Given the description of an element on the screen output the (x, y) to click on. 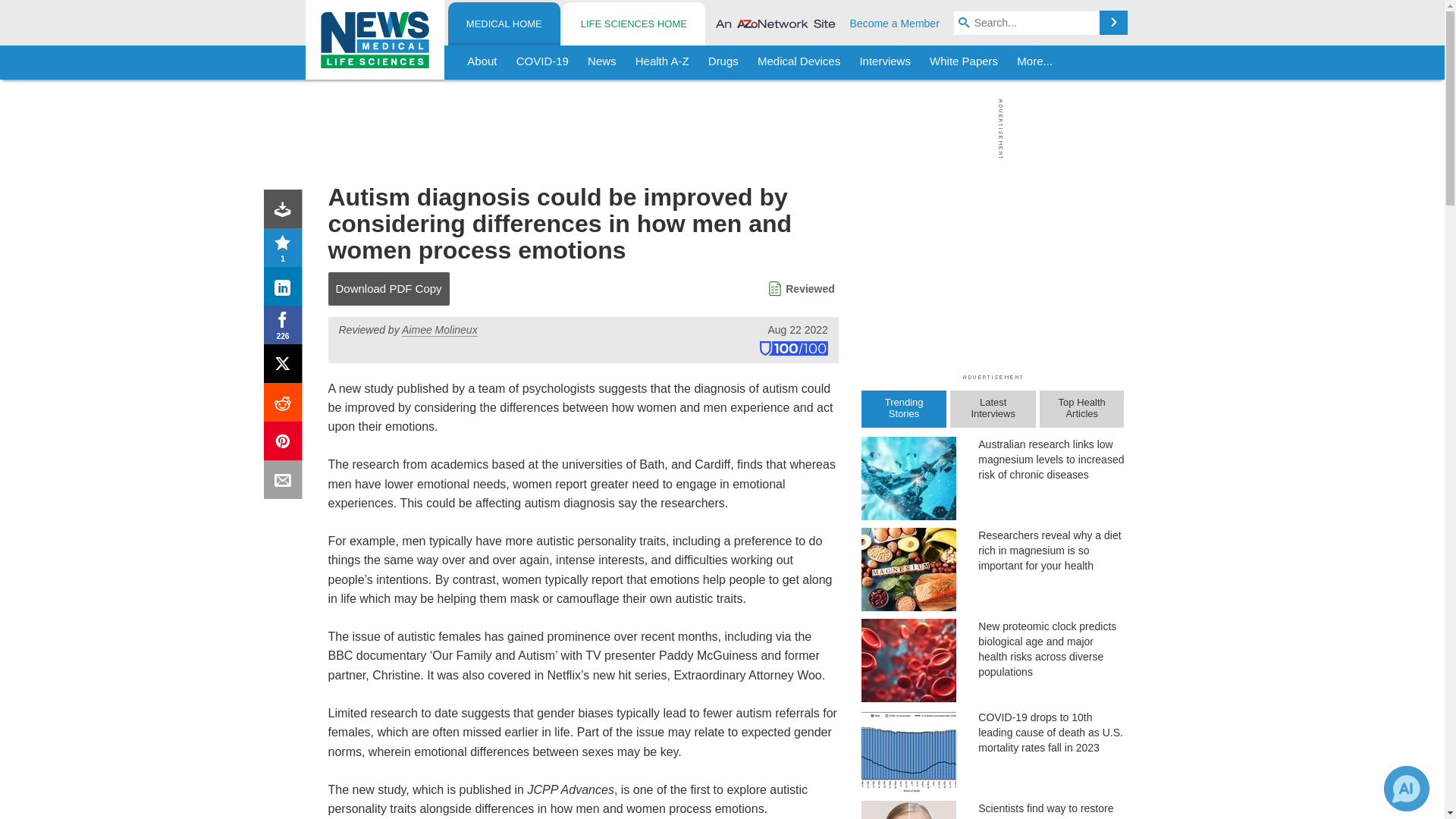
3rd party ad content (718, 128)
Facebook (285, 328)
Medical Devices (798, 62)
Interviews (884, 62)
LIFE SCIENCES HOME (633, 23)
MEDICAL HOME (504, 23)
Rating (285, 250)
COVID-19 (542, 62)
Reddit (285, 405)
About (482, 62)
